Given the description of an element on the screen output the (x, y) to click on. 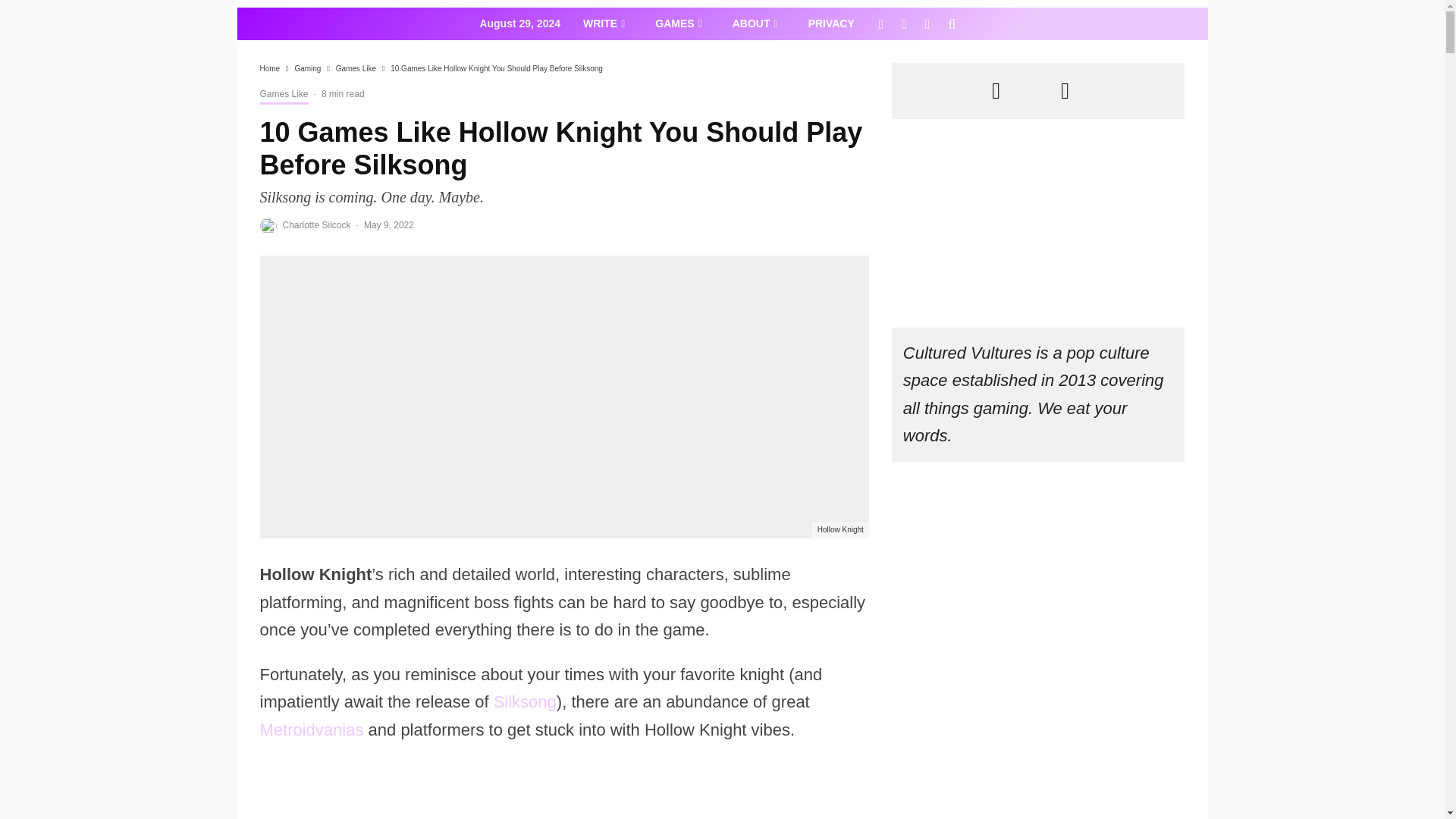
GAMES (678, 23)
WRITE (603, 23)
Posts by Charlotte Silcock (316, 225)
